Given the description of an element on the screen output the (x, y) to click on. 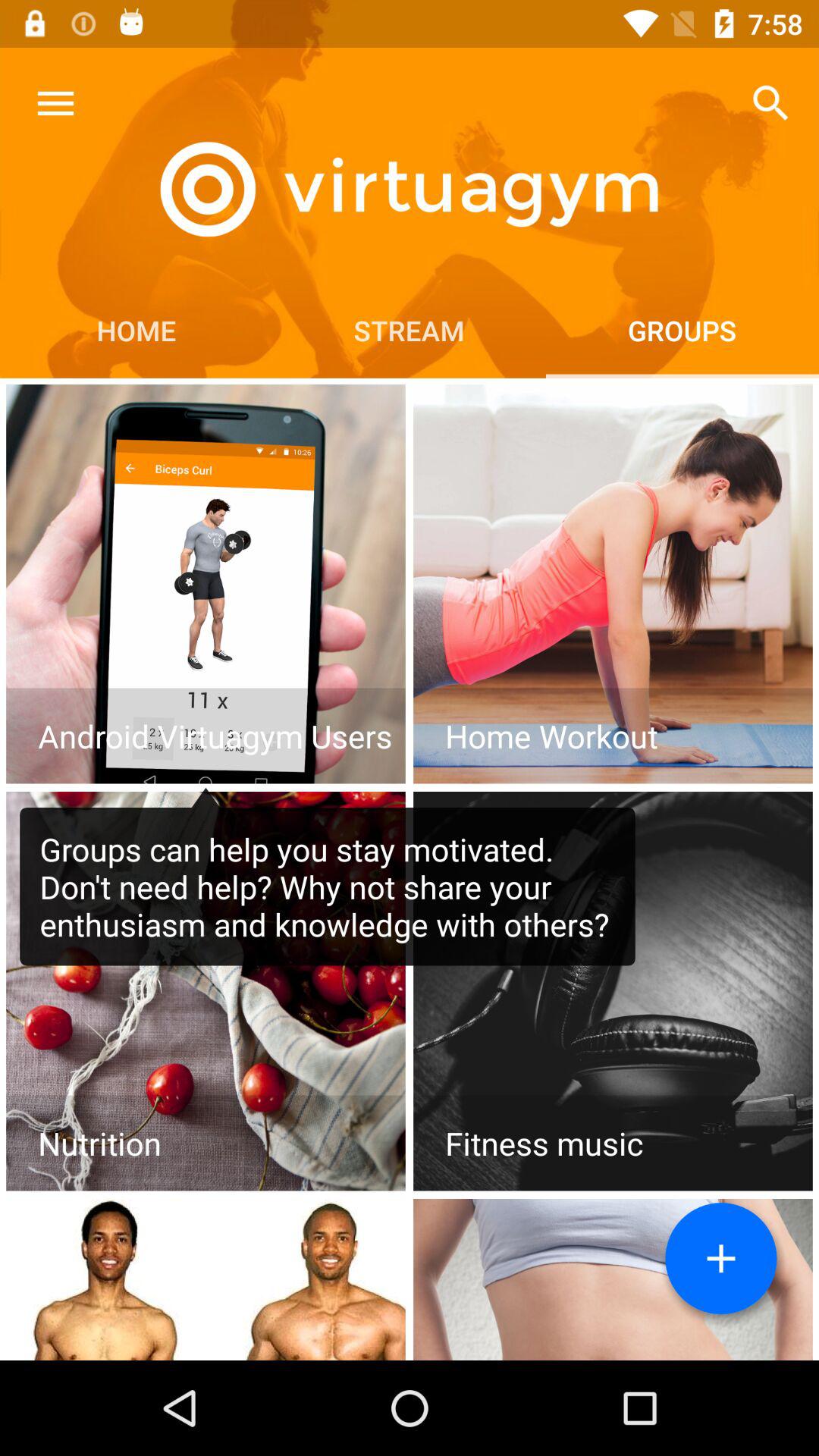
select topic (205, 583)
